Given the description of an element on the screen output the (x, y) to click on. 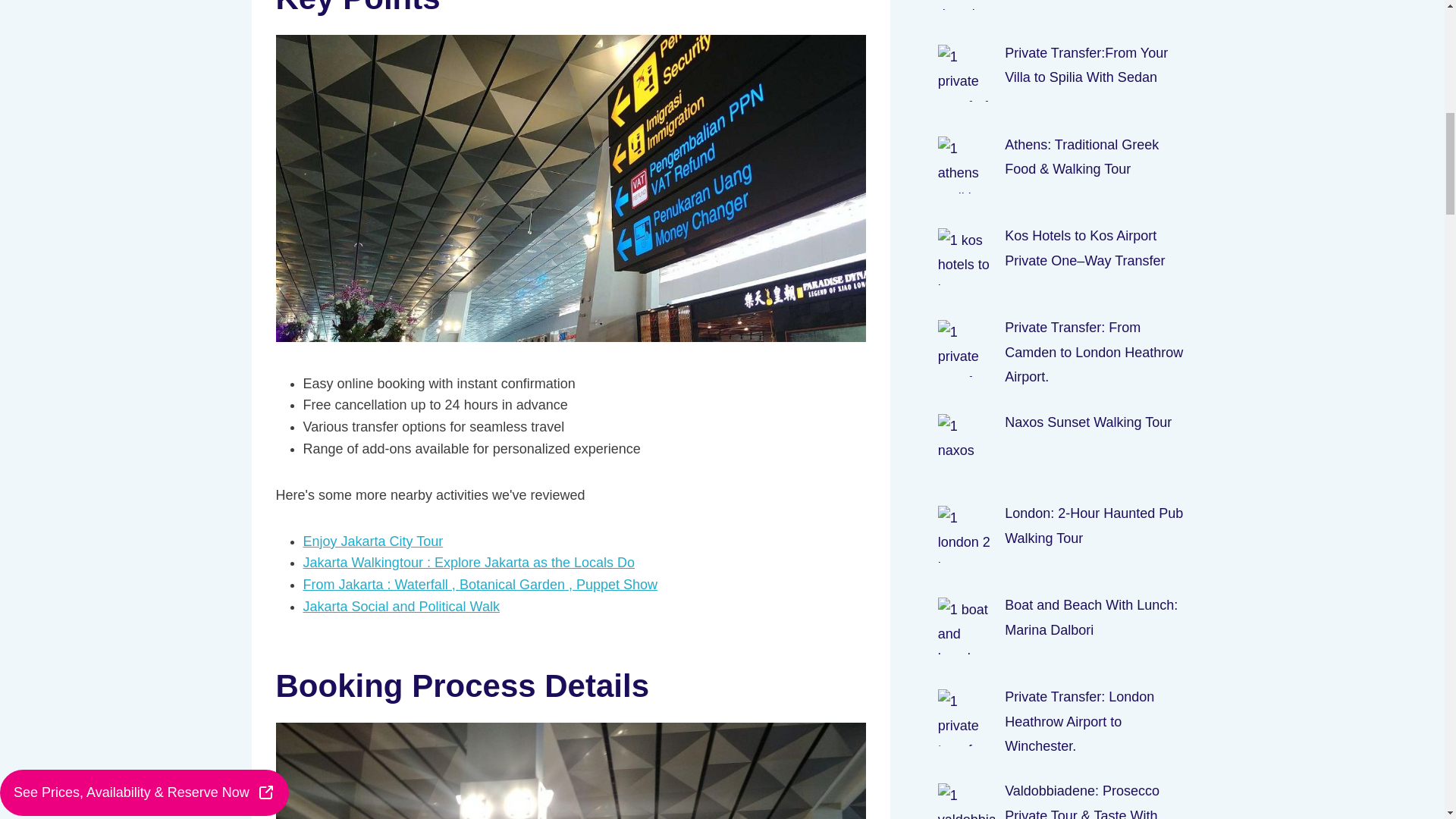
From Jakarta : Waterfall , Botanical Garden , Puppet Show (480, 584)
Jakarta Walkingtour : Explore Jakarta as the Locals Do (468, 562)
Enjoy Jakarta City Tour (373, 540)
Jakarta Social and Political Walk (400, 606)
